Given the description of an element on the screen output the (x, y) to click on. 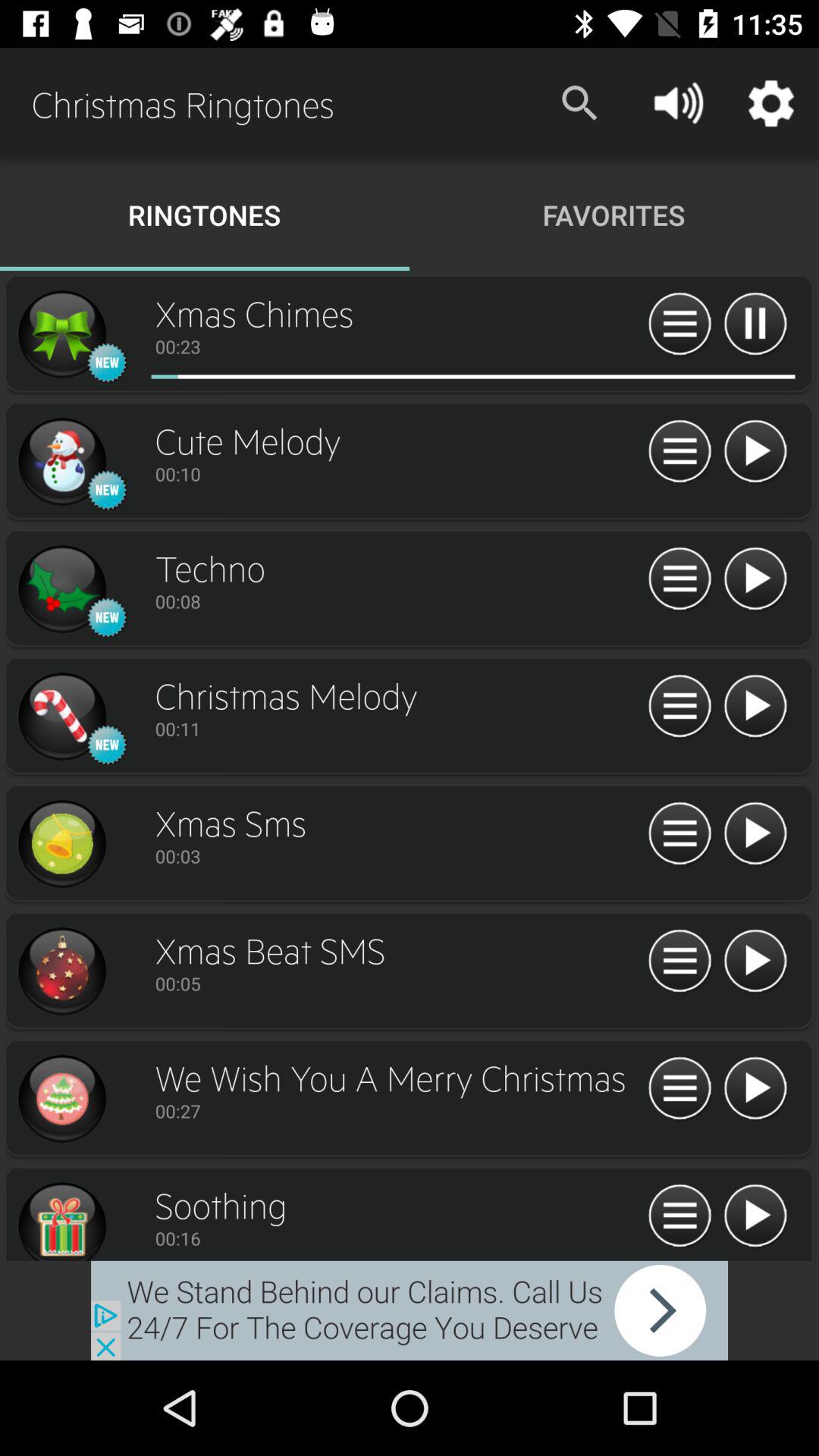
pause (755, 706)
